Given the description of an element on the screen output the (x, y) to click on. 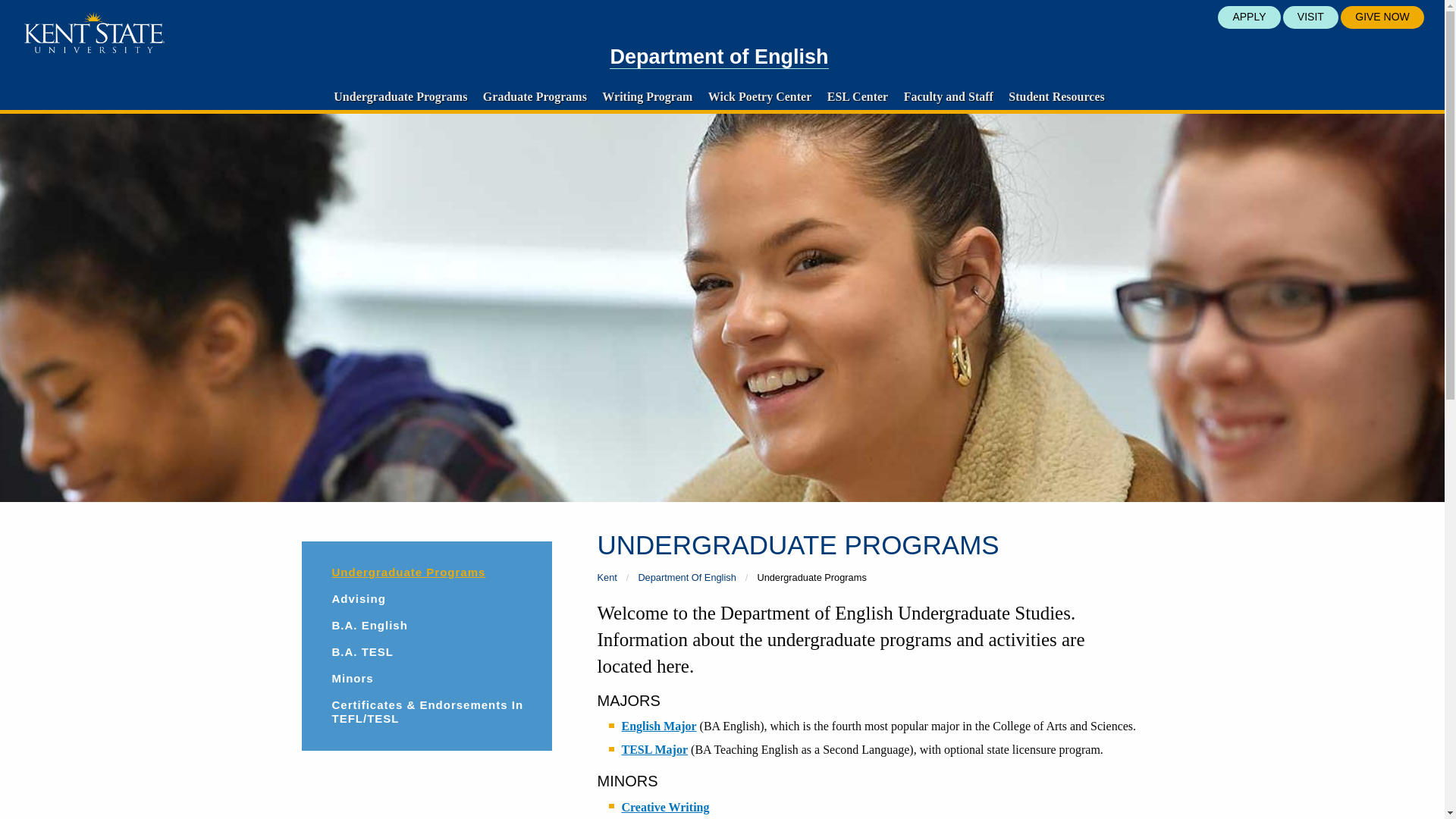
Undergraduate Programs (400, 96)
VISIT (1310, 16)
Kent State University logo (94, 32)
Department of English (719, 56)
APPLY (1248, 16)
GIVE NOW (1381, 16)
